Given the description of an element on the screen output the (x, y) to click on. 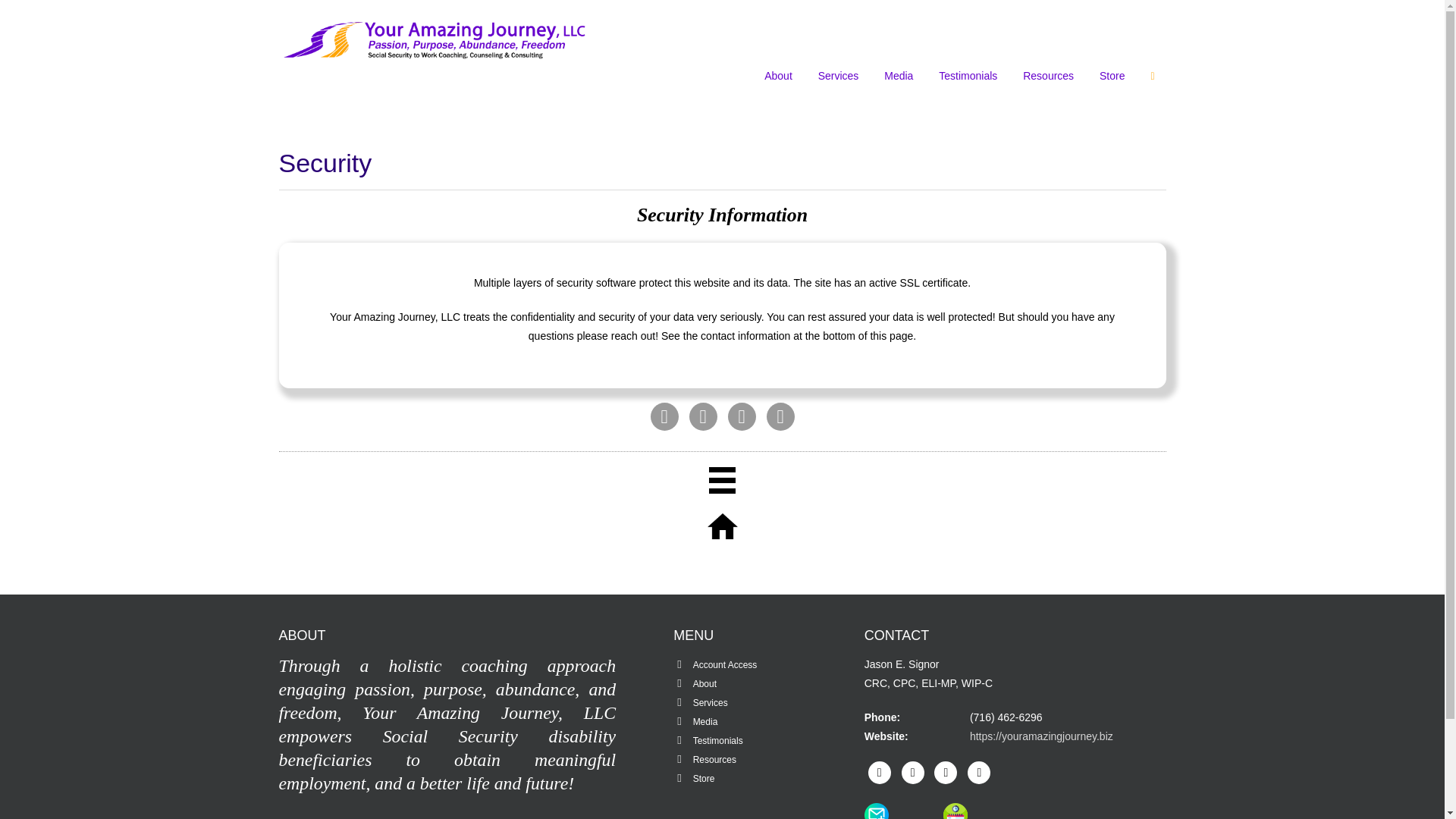
facebook (879, 772)
YouTube (741, 416)
linkedin (979, 772)
LinkedIn (779, 416)
Testimonials (968, 75)
Resources (1047, 75)
facebook (664, 416)
youtube (945, 772)
Instagram (702, 416)
